Given the description of an element on the screen output the (x, y) to click on. 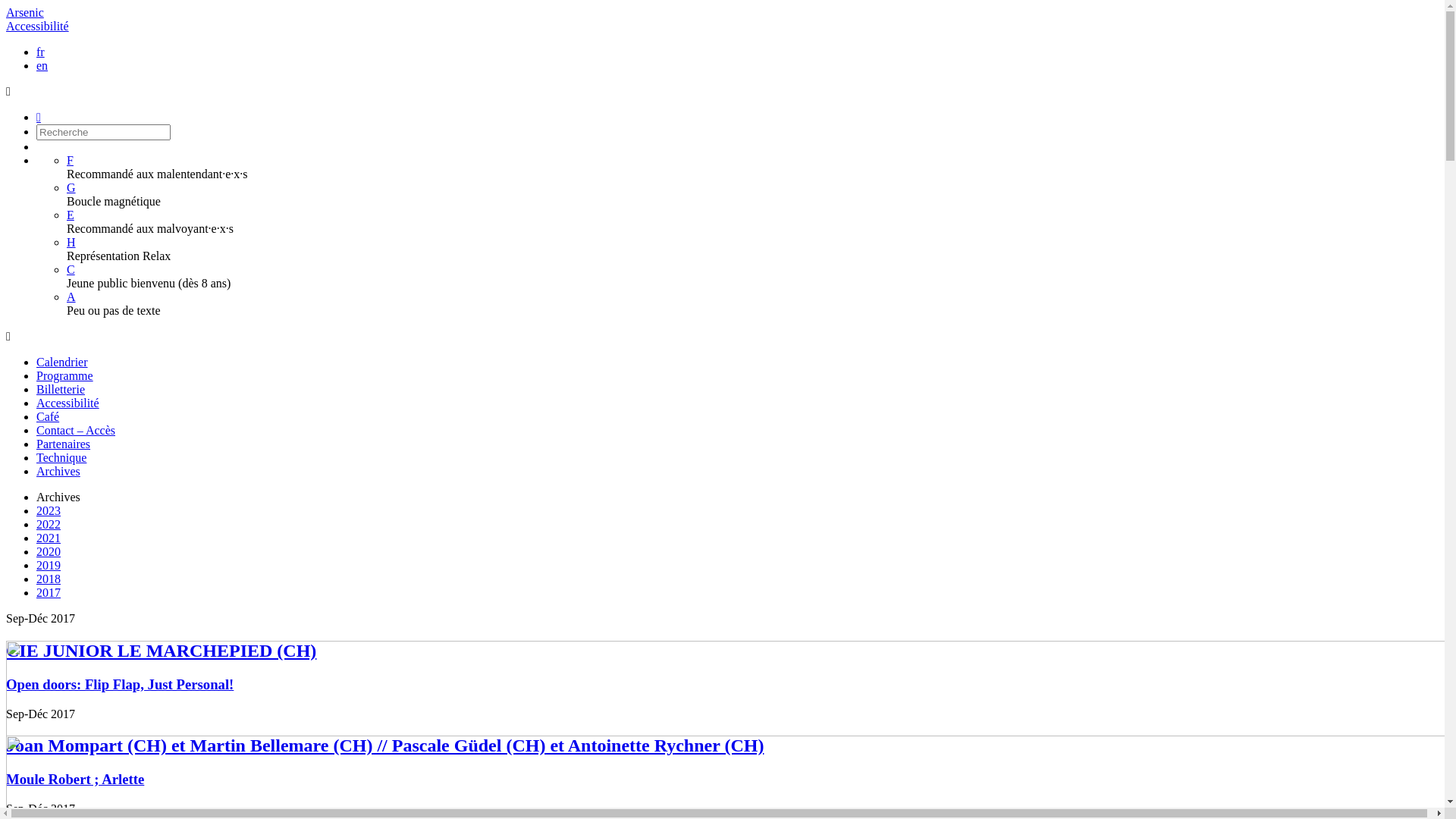
Archives Element type: text (58, 470)
Technique Element type: text (61, 457)
G Element type: text (70, 187)
2020 Element type: text (48, 551)
F Element type: text (69, 159)
2017 Element type: text (48, 592)
en Element type: text (41, 65)
Billetterie Element type: text (60, 388)
Programme Element type: text (64, 375)
2021 Element type: text (48, 537)
2019 Element type: text (48, 564)
2023 Element type: text (48, 510)
Arsenic Element type: text (24, 12)
H Element type: text (70, 241)
A Element type: text (70, 296)
E Element type: text (70, 214)
Partenaires Element type: text (63, 443)
2018 Element type: text (48, 578)
C Element type: text (70, 269)
2022 Element type: text (48, 523)
fr Element type: text (40, 51)
Calendrier Element type: text (61, 361)
